Given the description of an element on the screen output the (x, y) to click on. 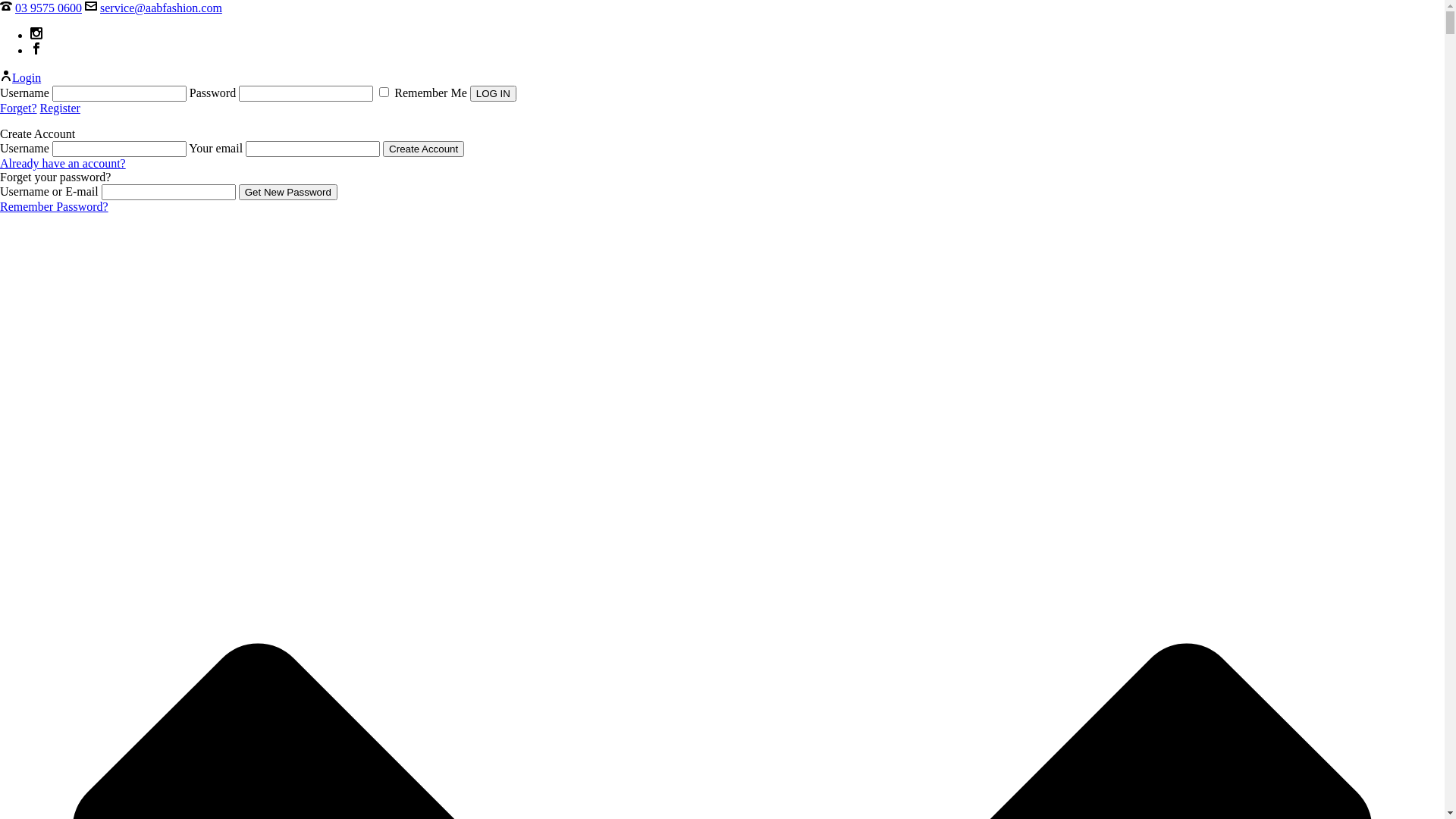
Remember Password? Element type: text (54, 206)
Forget? Element type: text (18, 107)
Register Element type: text (60, 107)
service@aabfashion.com Element type: text (161, 7)
Get New Password Element type: text (287, 192)
Login Element type: text (20, 77)
03 9575 0600 Element type: text (48, 7)
Create Account Element type: text (423, 148)
LOG IN Element type: text (493, 93)
Already have an account? Element type: text (62, 162)
